Given the description of an element on the screen output the (x, y) to click on. 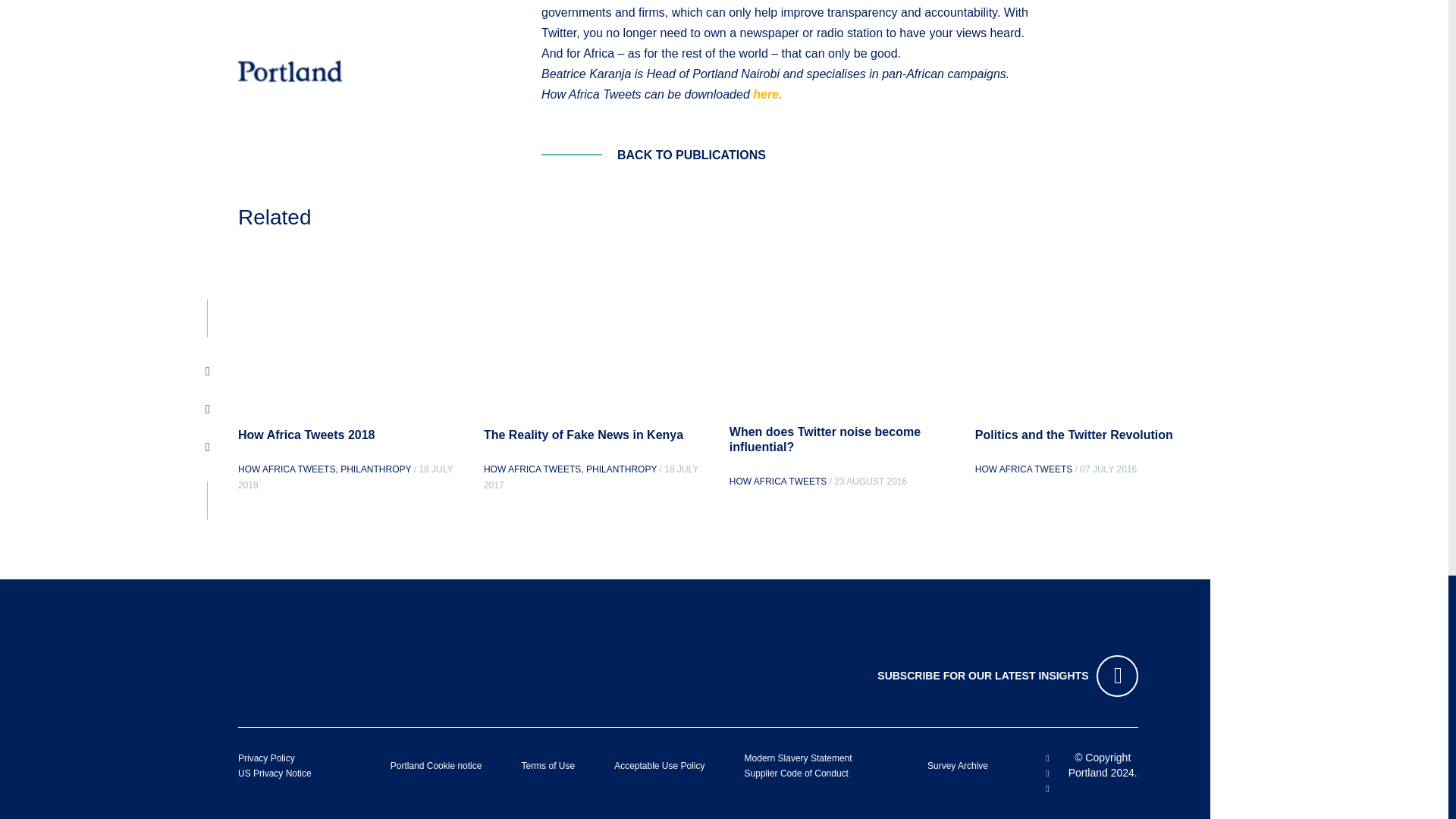
PHILANTHROPY (375, 469)
How Africa Tweets 2018 (306, 434)
BACK TO PUBLICATIONS (653, 154)
here. (766, 93)
HOW AFRICA TWEETS (286, 469)
